Given the description of an element on the screen output the (x, y) to click on. 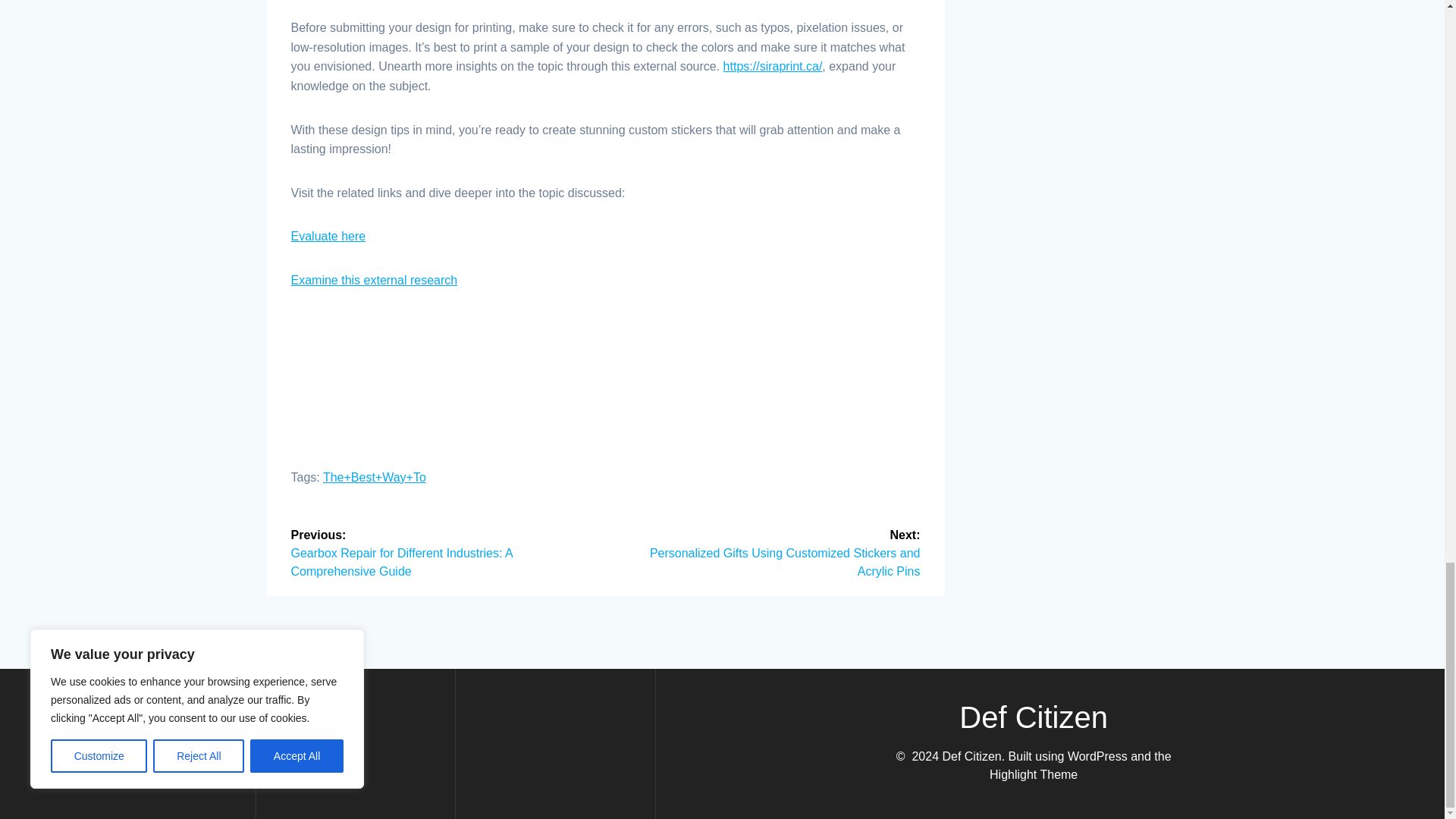
Evaluate here (328, 236)
Examine this external research (374, 279)
